Given the description of an element on the screen output the (x, y) to click on. 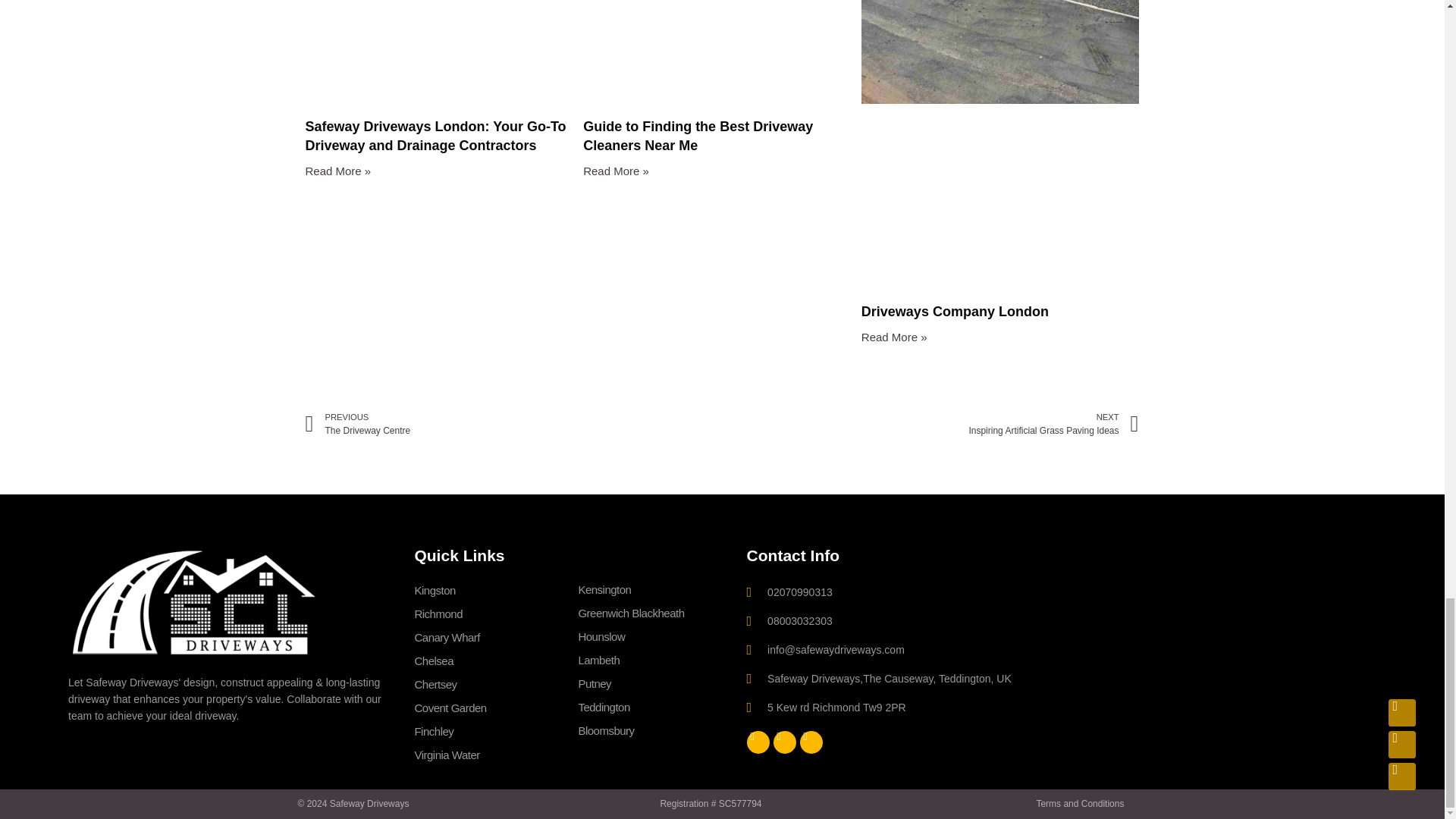
Safeway Driveways, The Causeway, Teddington, UK (1218, 650)
